Given the description of an element on the screen output the (x, y) to click on. 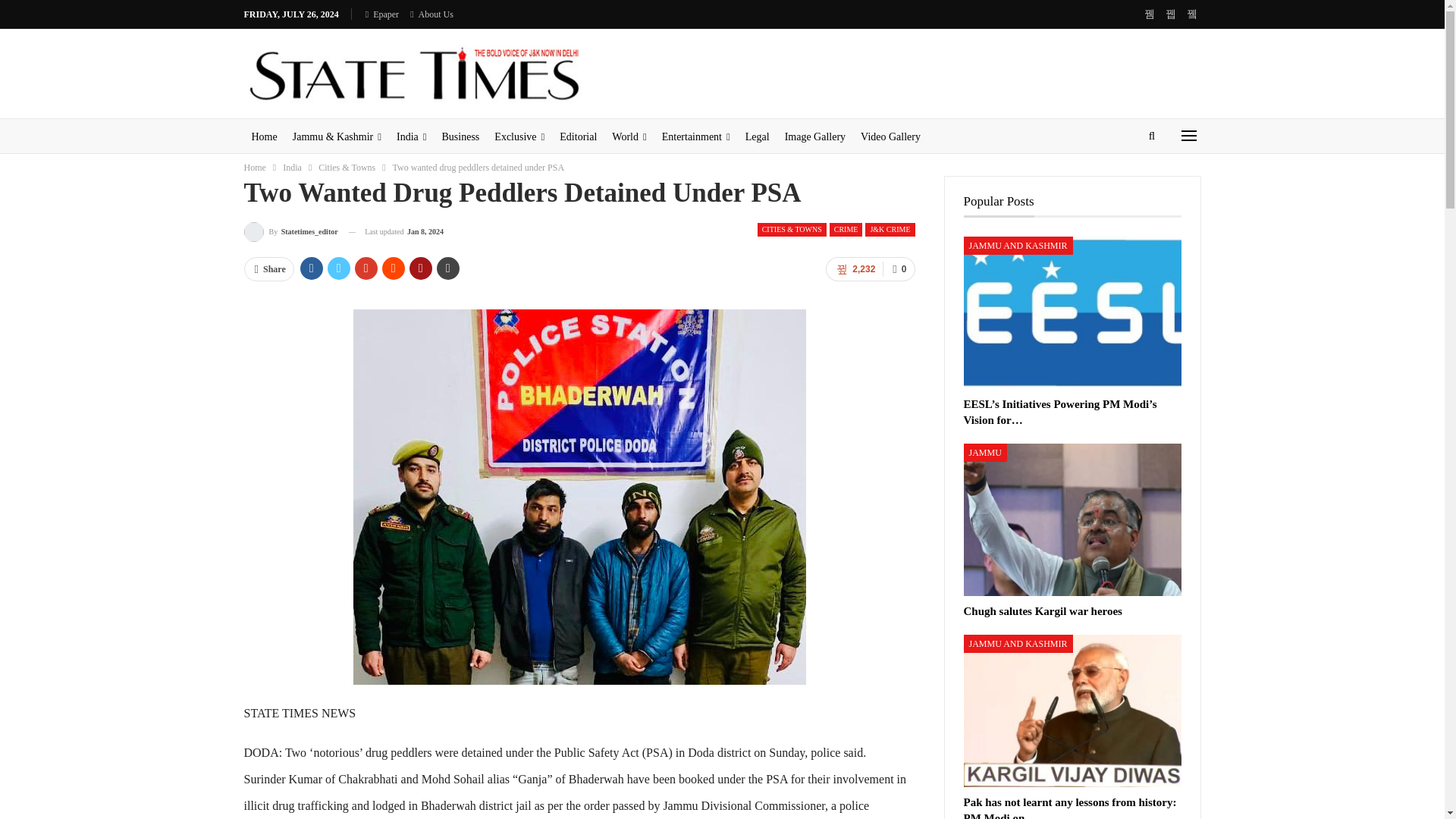
Epaper (381, 14)
